Given the description of an element on the screen output the (x, y) to click on. 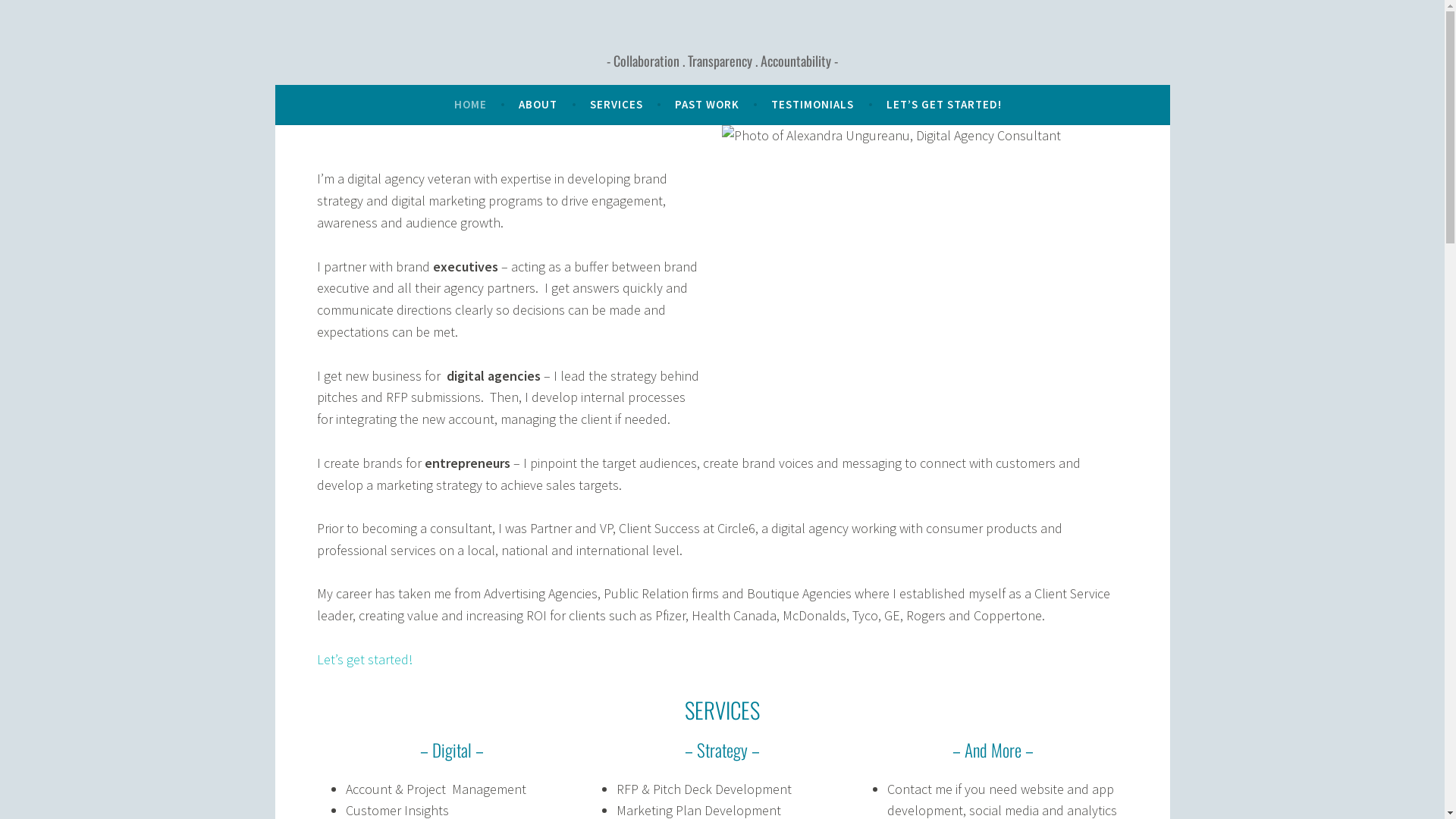
PAST WORK Element type: text (706, 104)
HOME Element type: text (470, 104)
TESTIMONIALS Element type: text (812, 104)
ABOUT Element type: text (537, 104)
SERVICES Element type: text (616, 104)
